Given the description of an element on the screen output the (x, y) to click on. 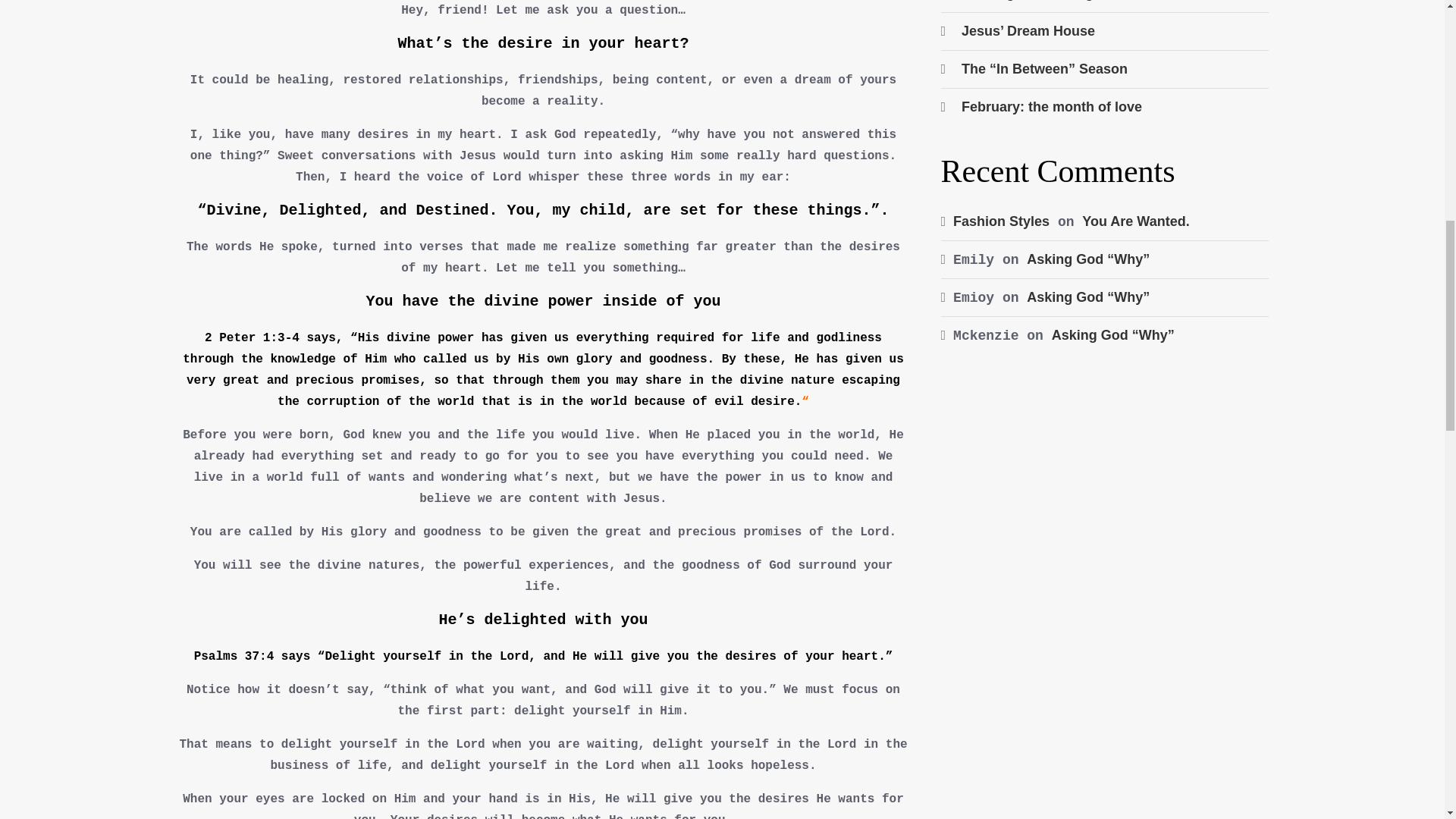
You Are Wanted. (1135, 221)
Fashion Styles (1001, 221)
February: the month of love (1050, 106)
